Given the description of an element on the screen output the (x, y) to click on. 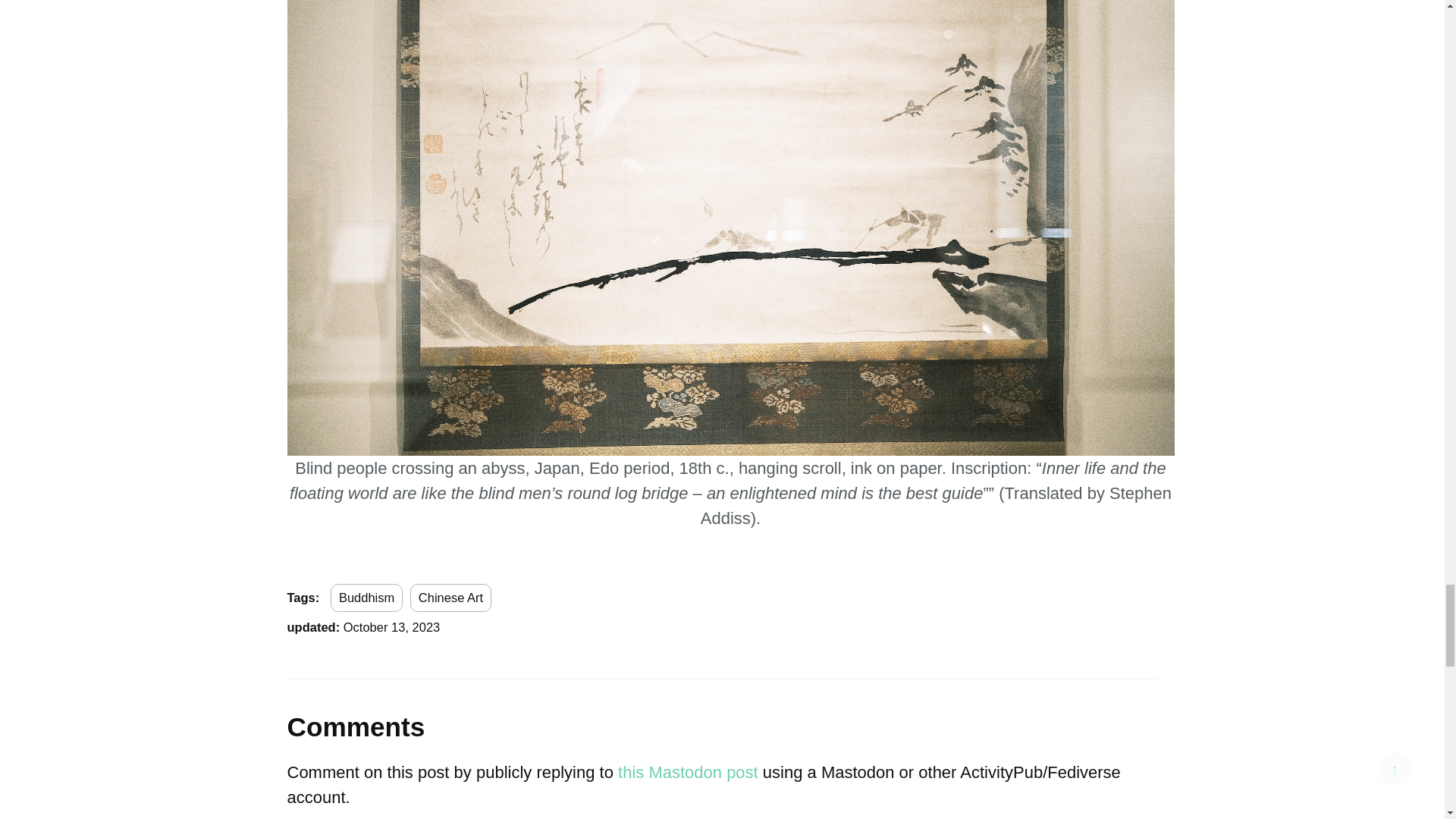
Chinese Art (451, 597)
Buddhism (366, 597)
Blind people crossing an abyss, Japan. (729, 158)
this Mastodon post (687, 772)
